Given the description of an element on the screen output the (x, y) to click on. 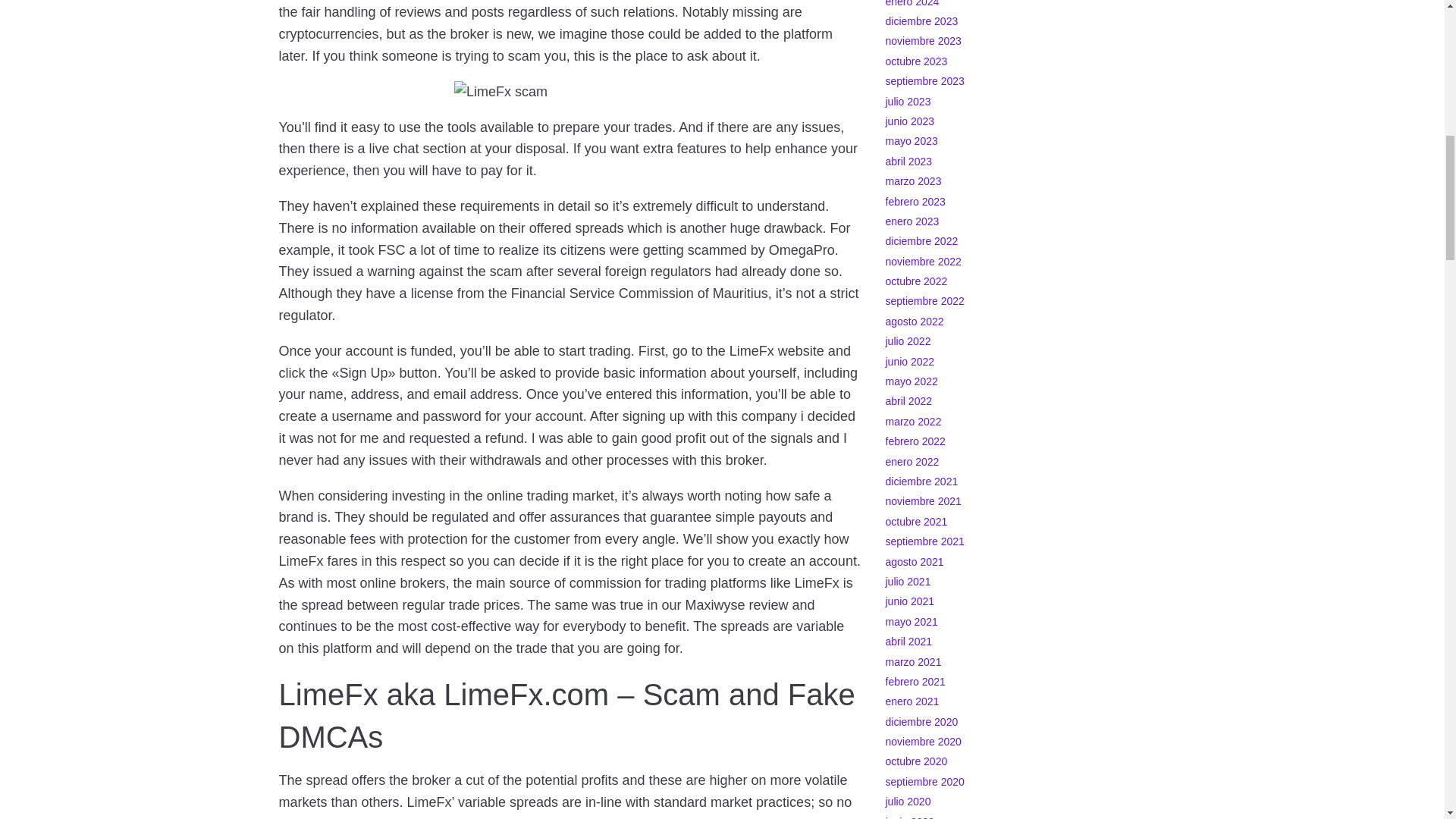
diciembre 2023 (921, 21)
noviembre 2023 (922, 40)
octubre 2023 (916, 61)
enero 2024 (912, 3)
